Given the description of an element on the screen output the (x, y) to click on. 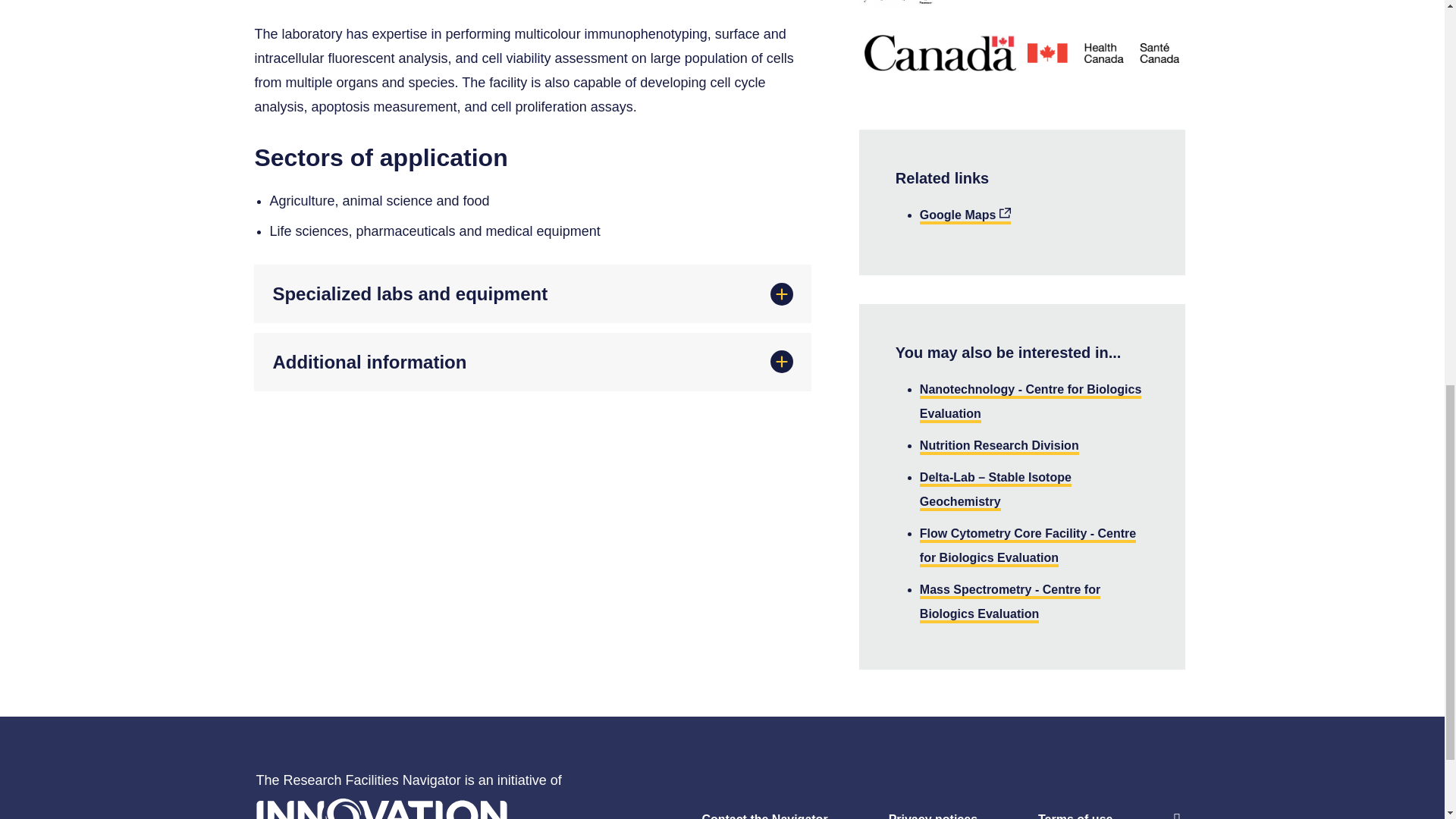
Nanotechnology - Centre for Biologics Evaluation (1030, 403)
Privacy notices (902, 816)
Terms of use (1044, 816)
Google Maps (965, 216)
Nutrition Research Division (999, 446)
Mass Spectrometry - Centre for Biologics Evaluation (1010, 603)
Contact the Navigator (733, 816)
